Given the description of an element on the screen output the (x, y) to click on. 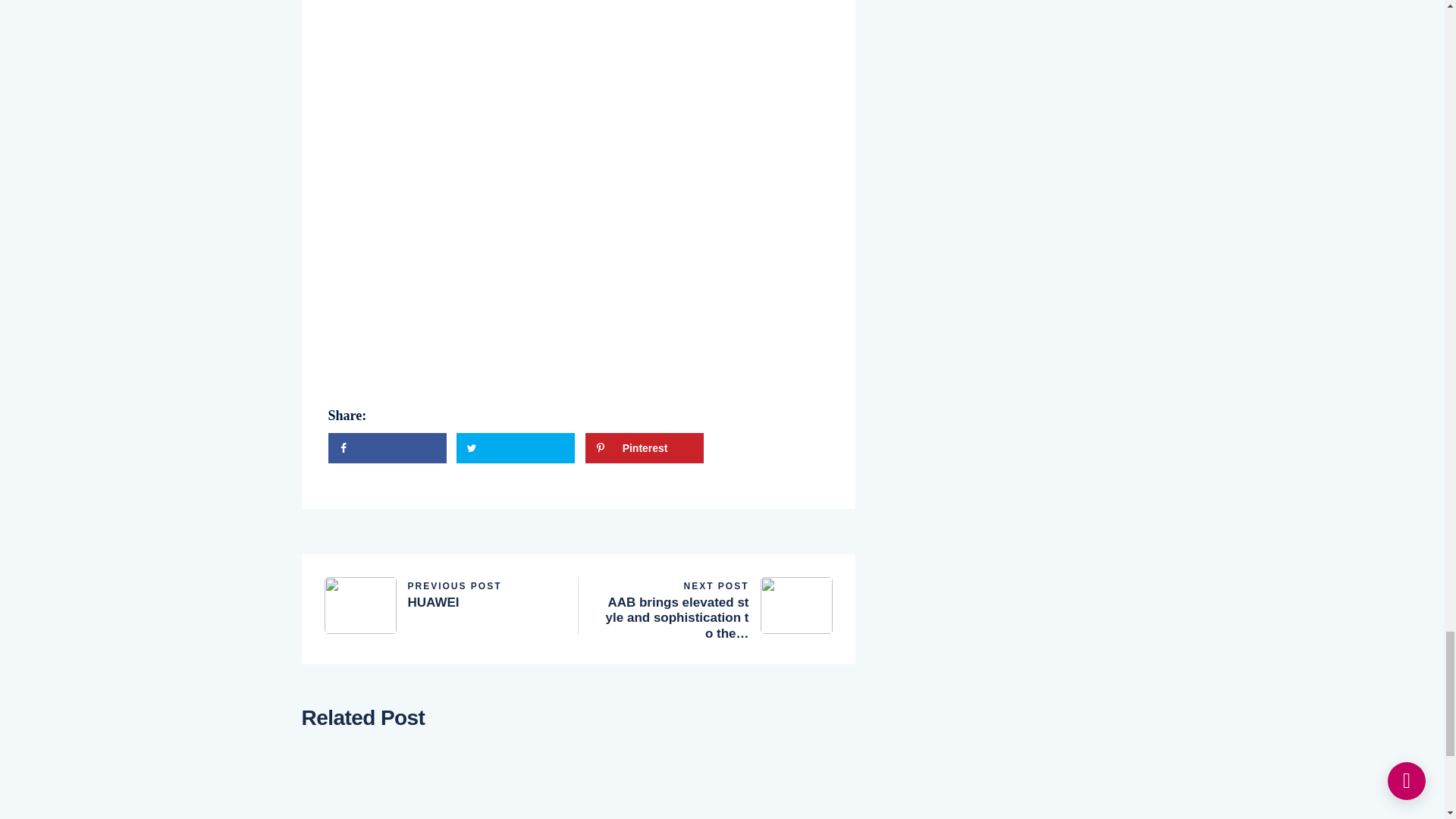
Facebook (386, 448)
Twitter (440, 593)
Pinterest (516, 448)
Share on Twitter (644, 448)
Share on Facebook (516, 448)
Save to Pinterest (386, 448)
